Given the description of an element on the screen output the (x, y) to click on. 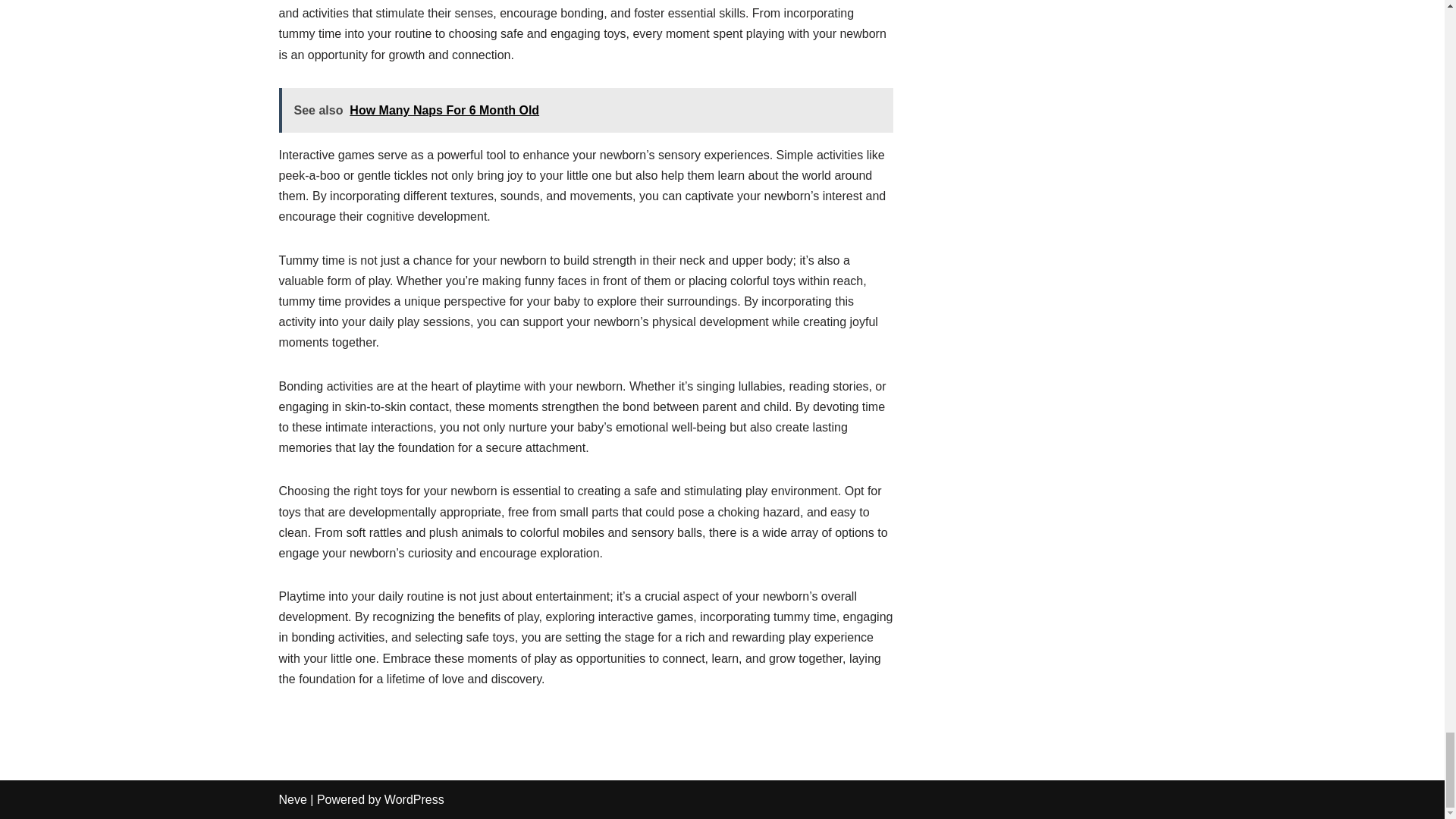
See also  How Many Naps For 6 Month Old (586, 109)
WordPress (414, 799)
Neve (293, 799)
